Given the description of an element on the screen output the (x, y) to click on. 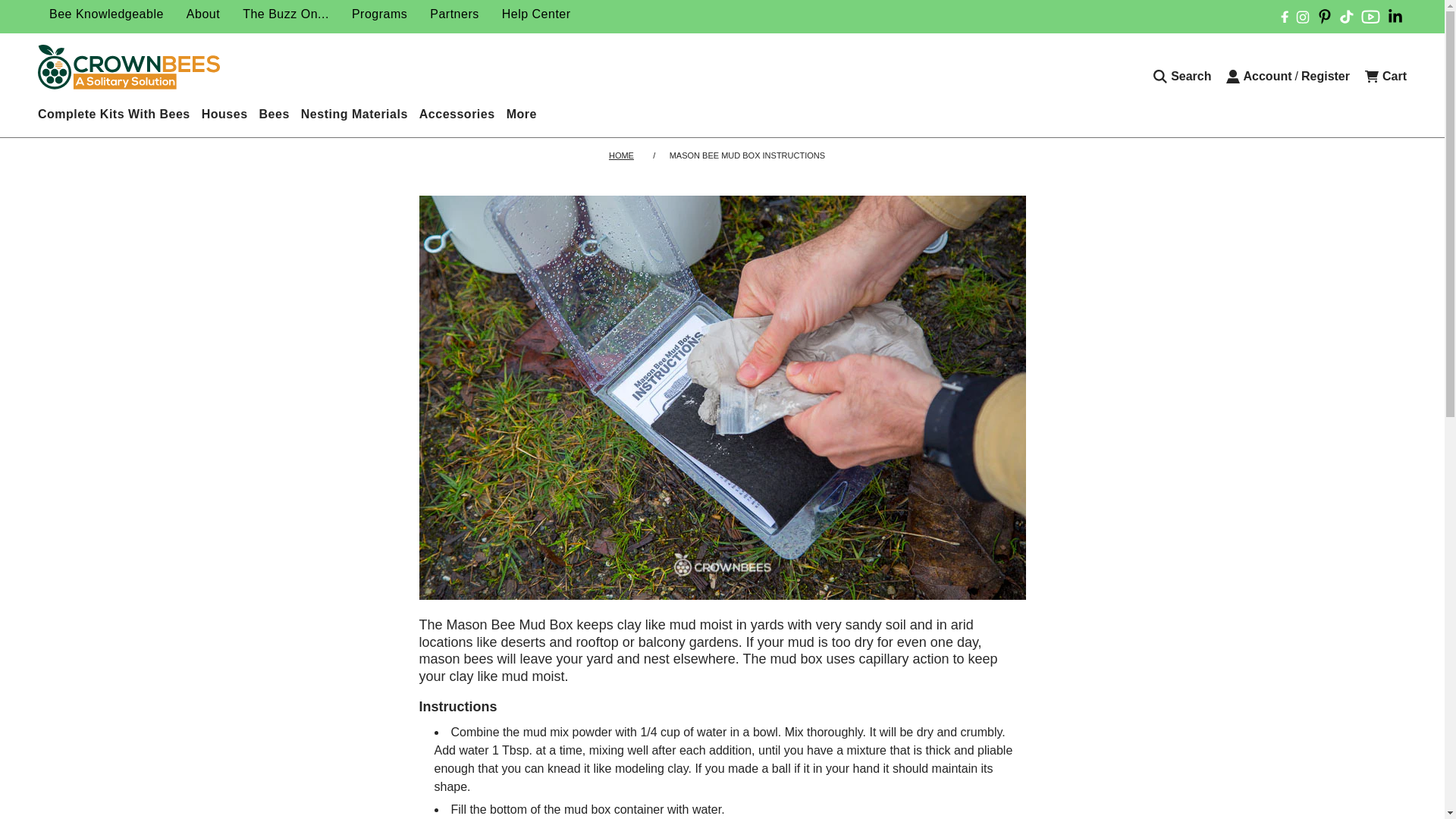
Programs (379, 14)
Log in (1258, 76)
Bee Knowledgeable (105, 14)
Help Center (536, 14)
Back to the frontpage (623, 155)
Partners (454, 14)
The Buzz On... (285, 14)
About (202, 14)
